Given the description of an element on the screen output the (x, y) to click on. 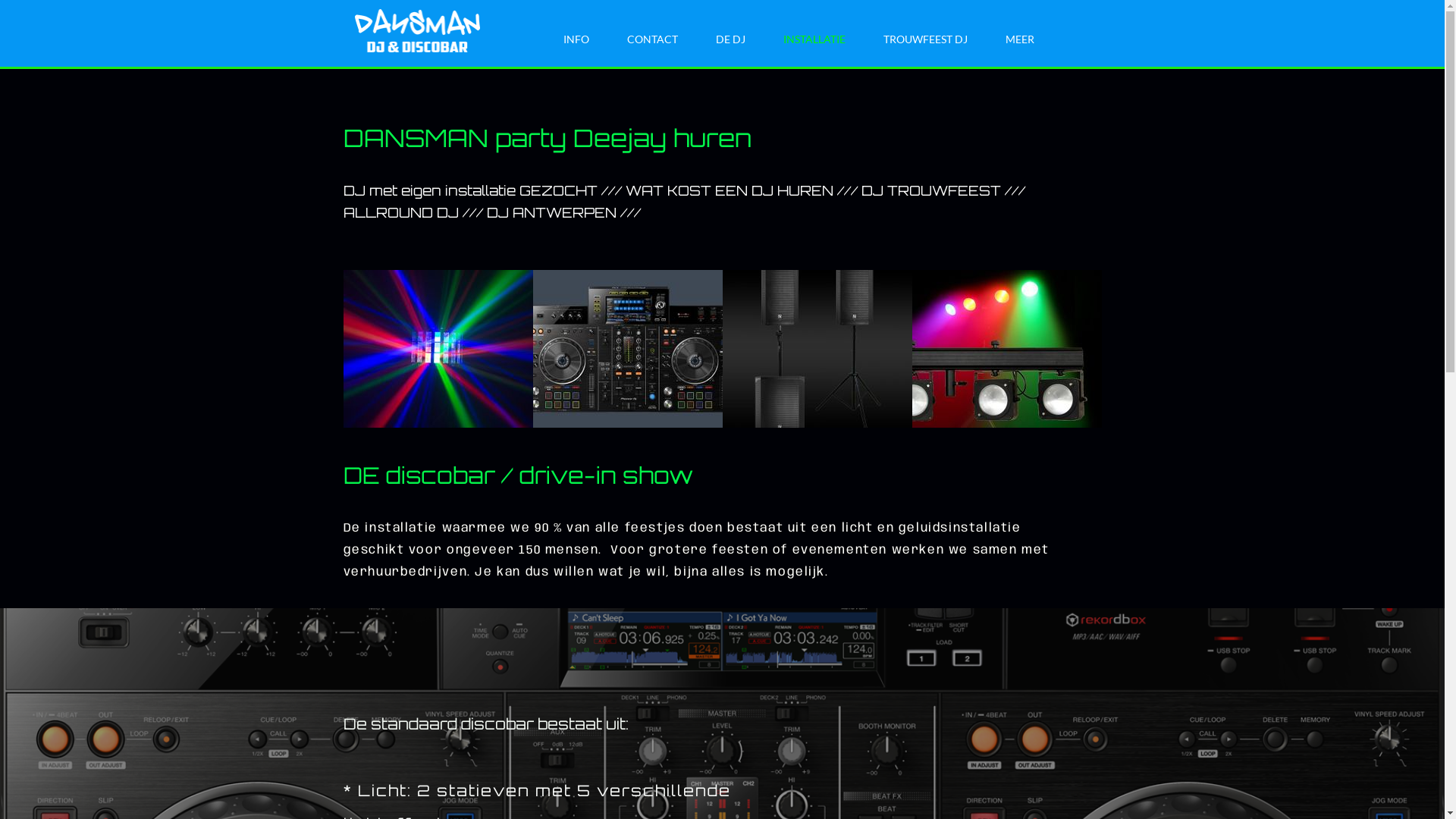
INFO Element type: text (576, 38)
TROUWFEEST DJ Element type: text (925, 38)
party-derby-jb-systems-2 Element type: hover (437, 348)
jb_systems_cob4bar_fernbedienung___serialized1 Element type: hover (1006, 348)
pioneer xdj Element type: hover (626, 348)
CONTACT Element type: text (652, 38)
MEER Element type: text (1021, 38)
DE DJ Element type: text (729, 38)
INSTALLATIE Element type: text (814, 38)
